Given the description of an element on the screen output the (x, y) to click on. 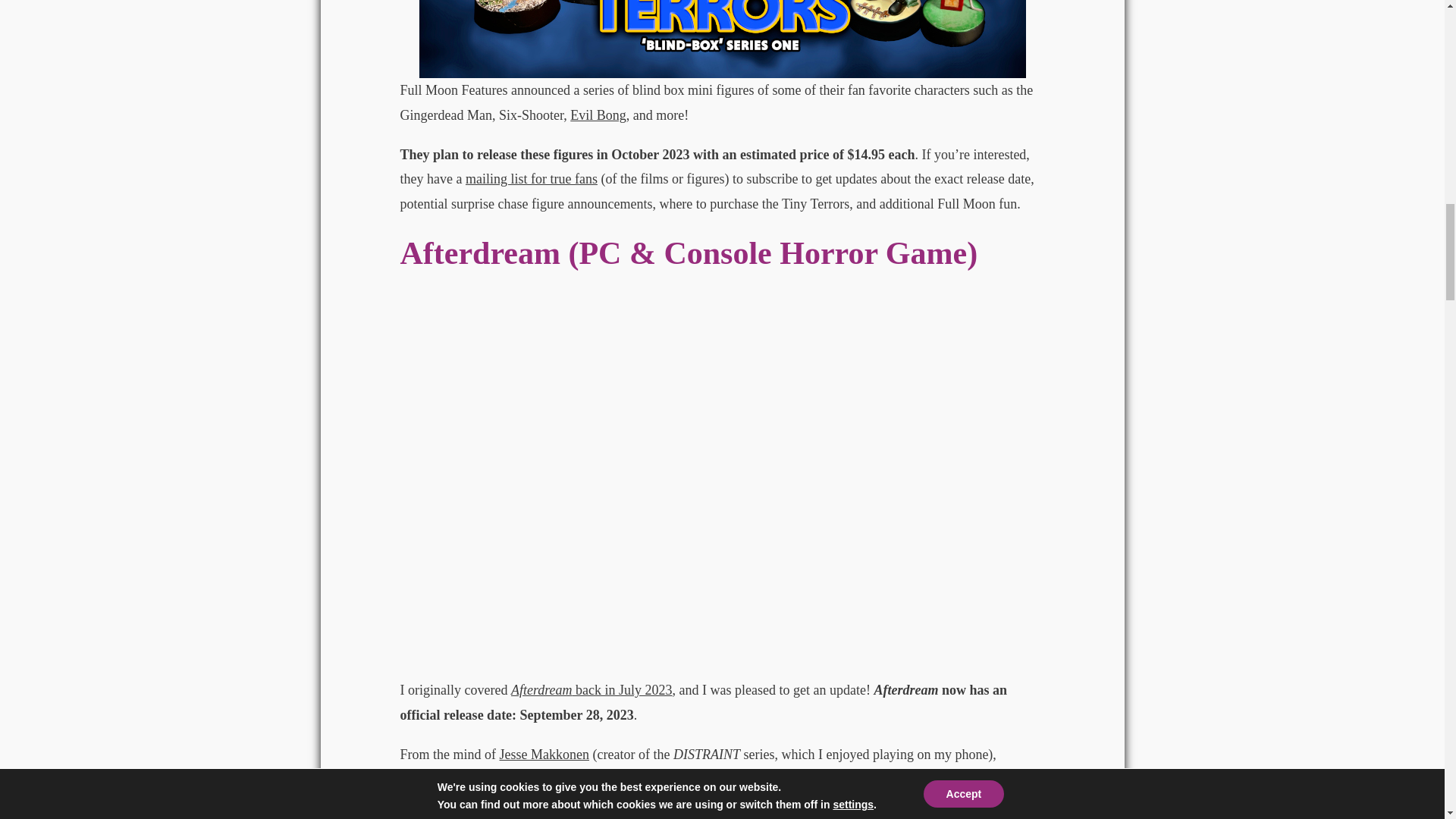
Jesse Makkonen (543, 754)
Tiny-Terrors-series-one - HorrorFam.com (722, 38)
Evil Bong (598, 114)
mailing list for true fans (530, 178)
Afterdream back in July 2023 (591, 689)
